Given the description of an element on the screen output the (x, y) to click on. 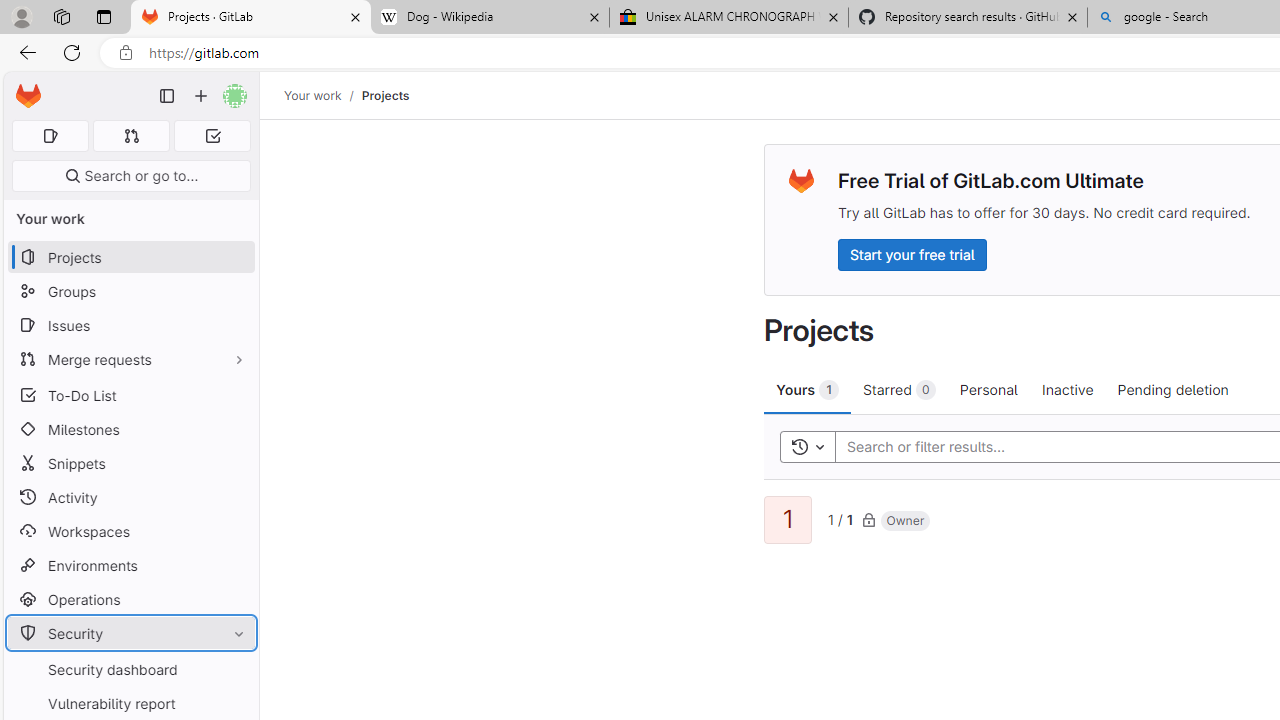
To-Do list 0 (212, 136)
Pending deletion (1172, 389)
Personal (988, 389)
Groups (130, 291)
Your work (312, 95)
To-Do List (130, 394)
Projects (384, 95)
Issues (130, 325)
Merge requests (130, 358)
Primary navigation sidebar (167, 96)
Your work/ (323, 95)
Security dashboard (130, 669)
